Given the description of an element on the screen output the (x, y) to click on. 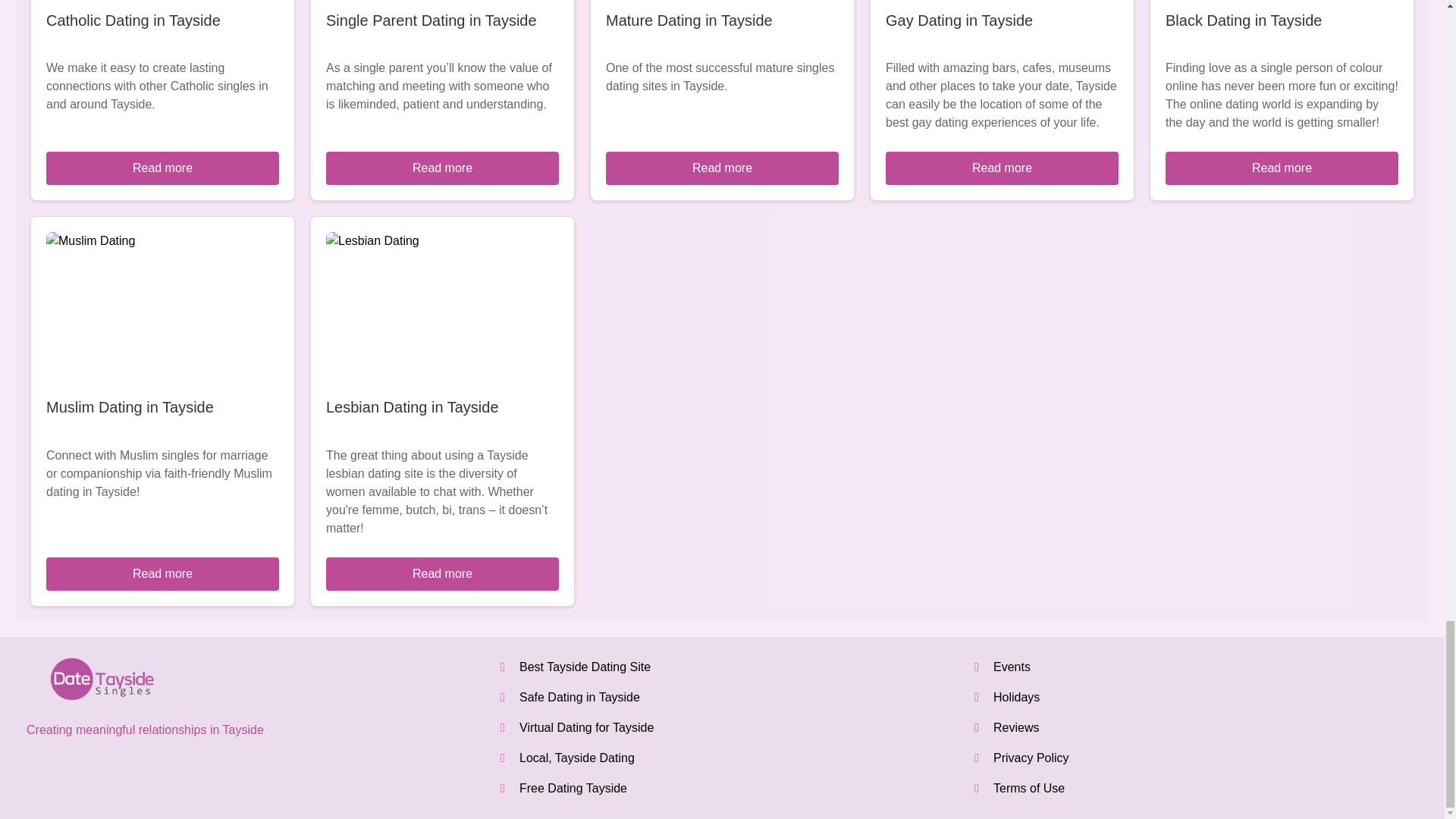
Read more (442, 573)
Reviews (1015, 727)
Local, Tayside Dating (576, 757)
Privacy Policy (1030, 757)
Read more (721, 168)
Virtual Dating for Tayside (586, 727)
Terms of Use (1028, 788)
Free Dating Tayside (573, 788)
Read more (1001, 168)
Safe Dating in Tayside (579, 697)
Read more (162, 168)
Events (1011, 666)
Holidays (1015, 697)
Read more (162, 573)
Read more (1281, 168)
